Given the description of an element on the screen output the (x, y) to click on. 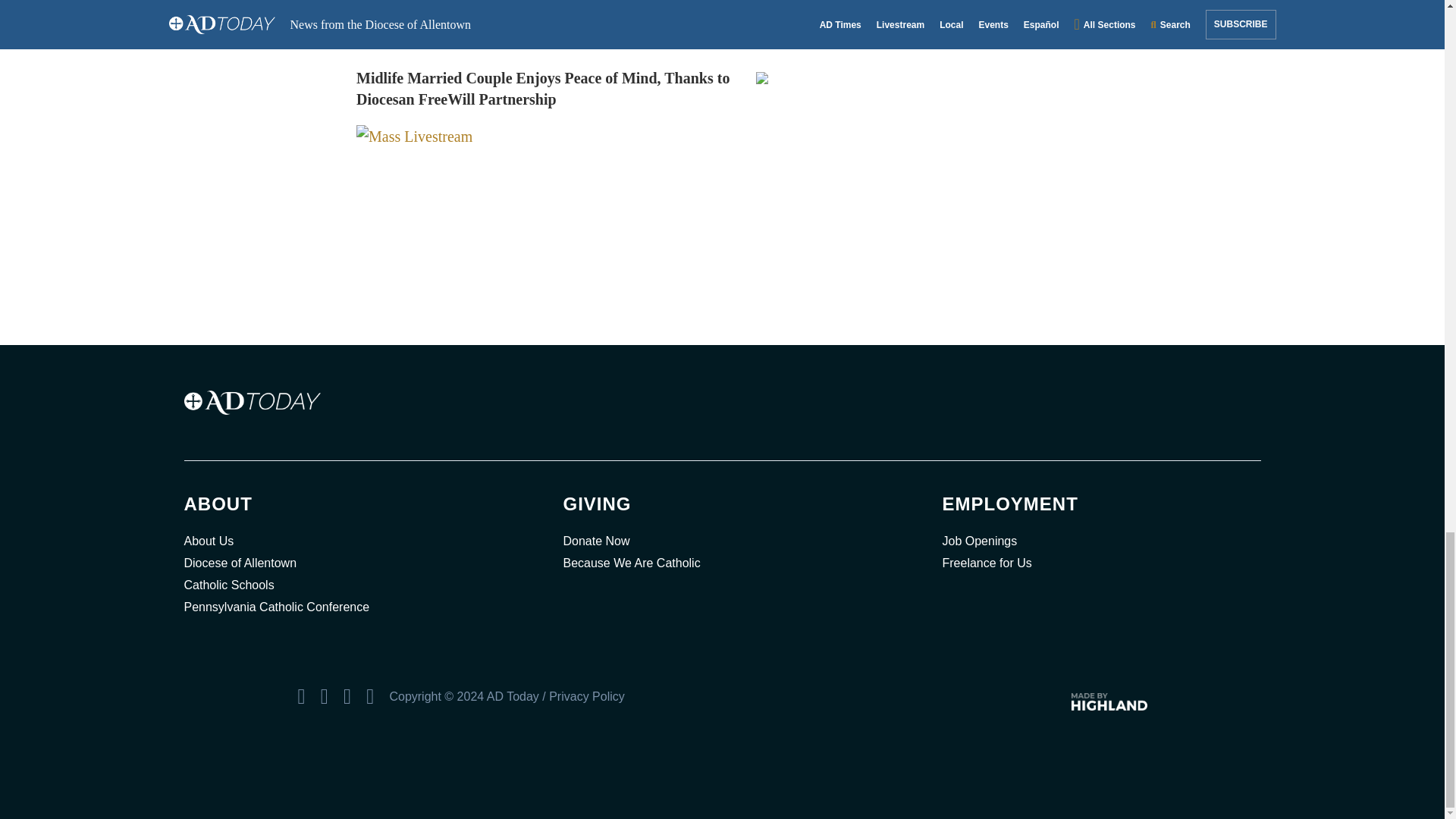
Mass Livestream (413, 136)
About Us (342, 541)
